Given the description of an element on the screen output the (x, y) to click on. 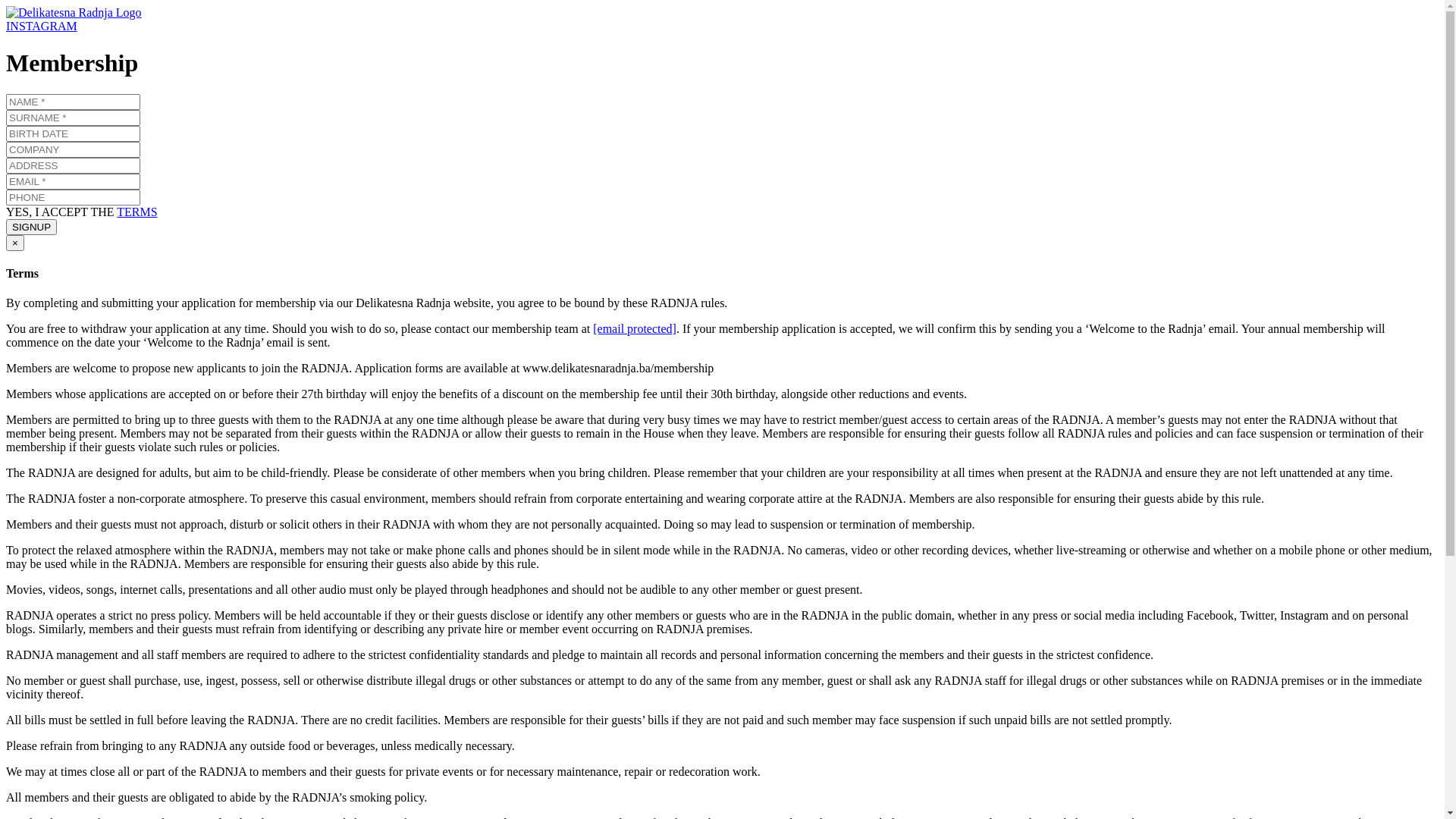
Delikatesna Radnja Logo Element type: hover (73, 12)
[email protected] Element type: text (634, 328)
TERMS Element type: text (136, 211)
SIGNUP Element type: text (31, 227)
INSTAGRAM Element type: text (41, 25)
